Given the description of an element on the screen output the (x, y) to click on. 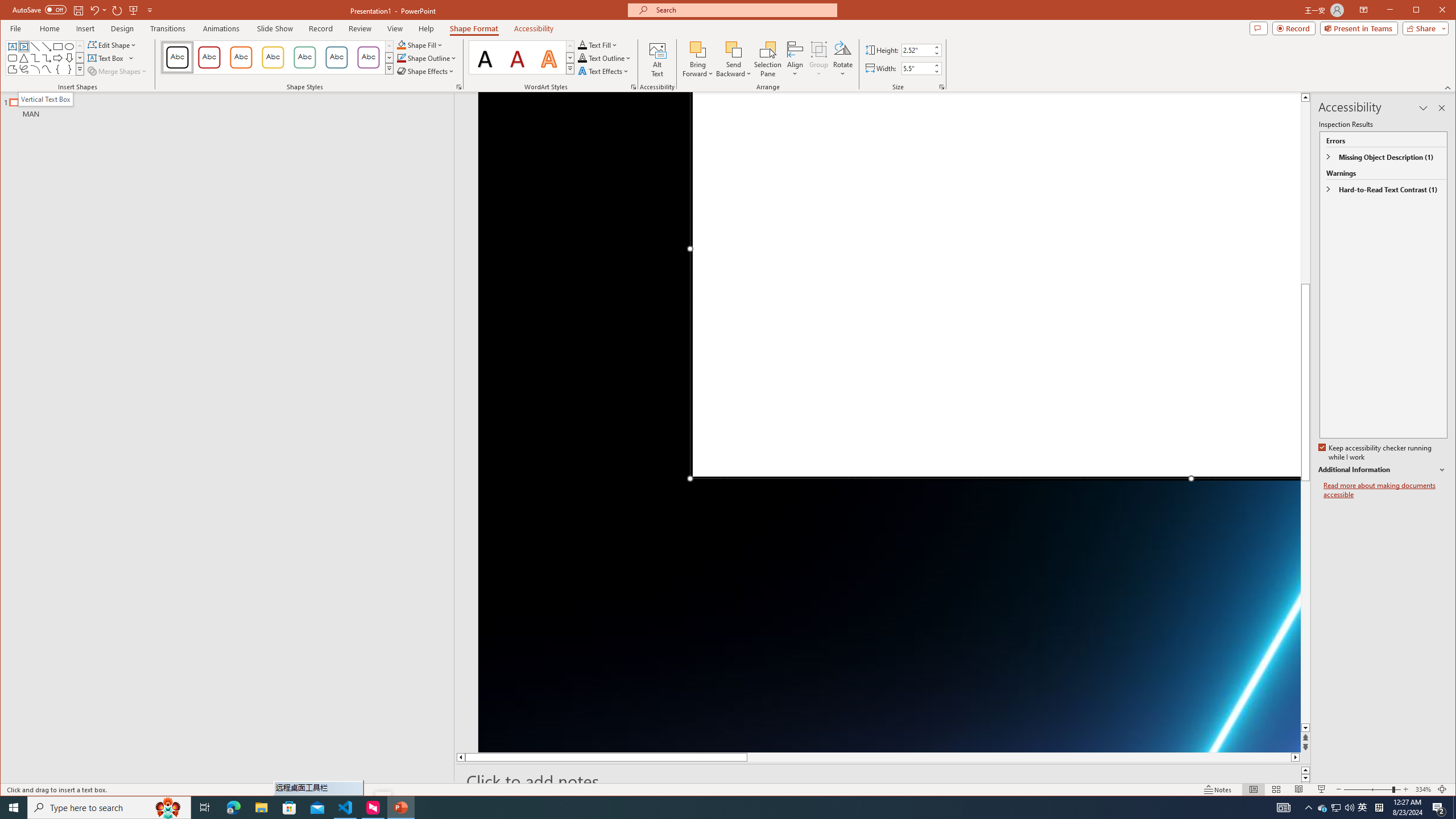
Colored Outline - Orange, Accent 2 (241, 57)
Text Fill RGB(0, 0, 0) (582, 44)
Colored Outline - Blue-Gray, Accent 5 (336, 57)
Fill: Dark Red, Accent color 1; Shadow (517, 57)
Format Text Effects... (632, 86)
